Given the description of an element on the screen output the (x, y) to click on. 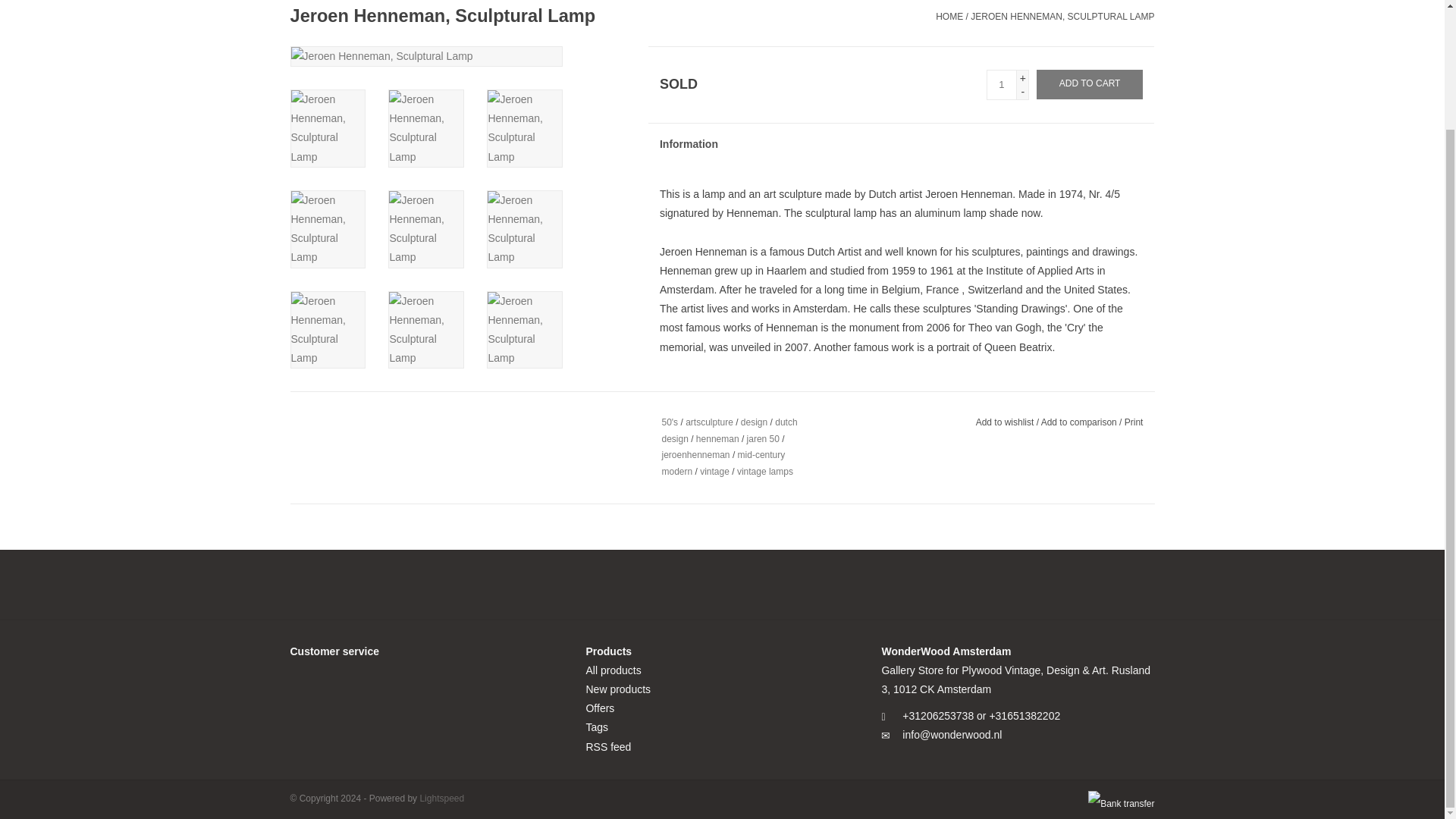
1 (1001, 84)
